Given the description of an element on the screen output the (x, y) to click on. 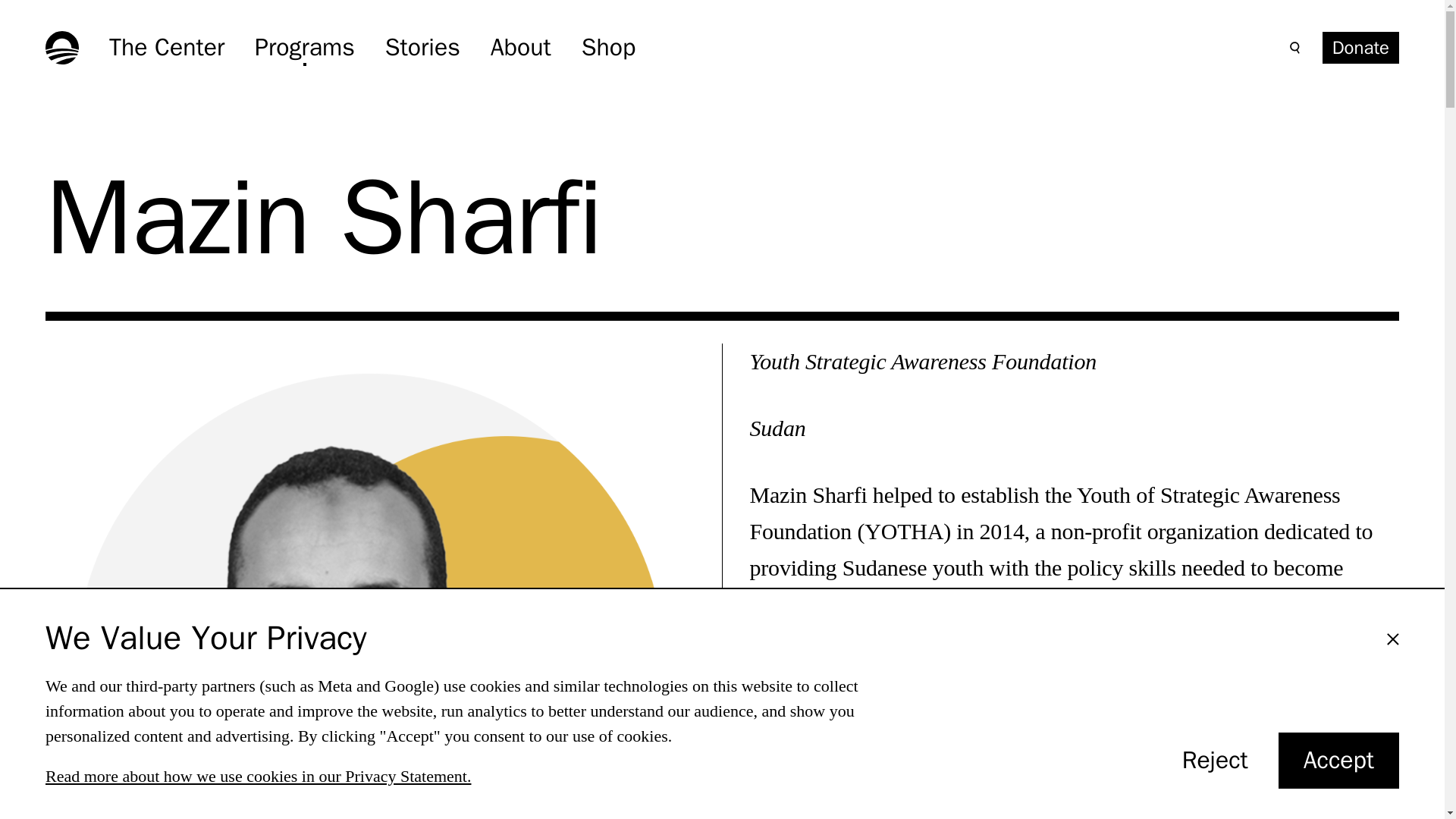
About (1214, 760)
The Center (520, 46)
Programs (166, 46)
Shop (304, 46)
Stories (1338, 760)
Read more about how we use cookies in our Privacy Statement. (608, 46)
Search (422, 46)
Donate (257, 775)
